Given the description of an element on the screen output the (x, y) to click on. 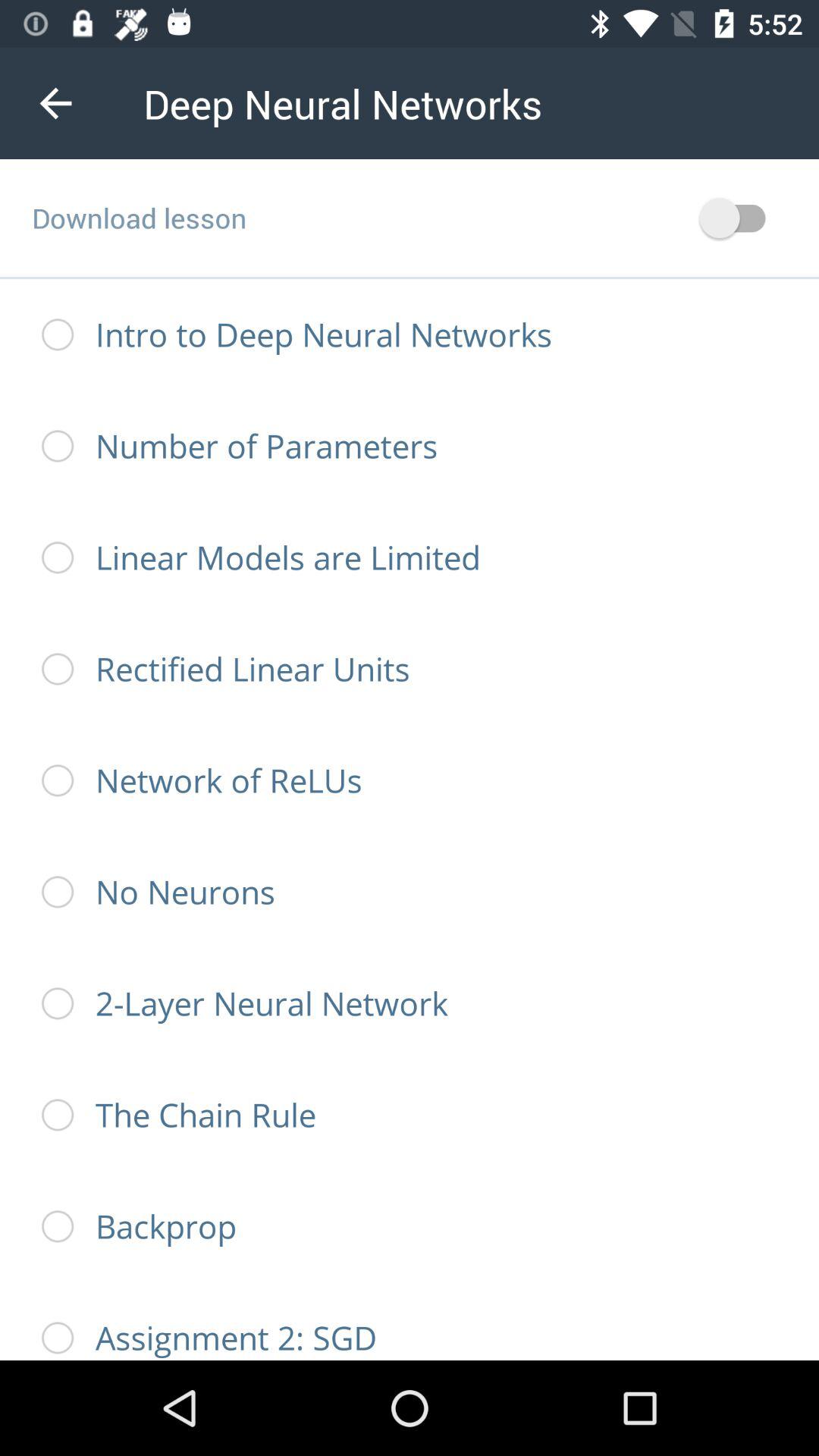
toggle download button (739, 218)
